Given the description of an element on the screen output the (x, y) to click on. 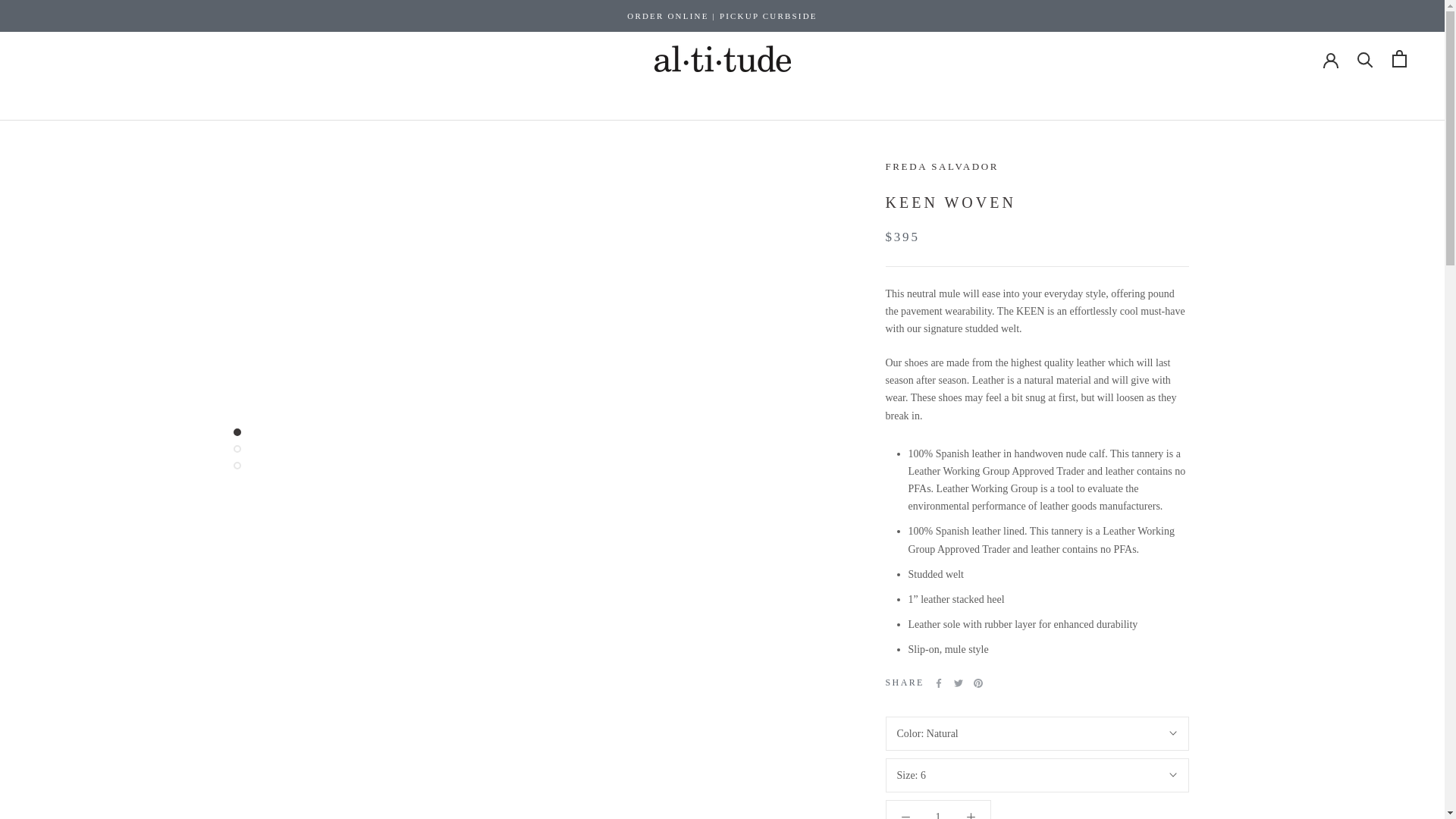
Size: 6 (1037, 775)
1 (938, 815)
Color: Natural (1037, 733)
